Given the description of an element on the screen output the (x, y) to click on. 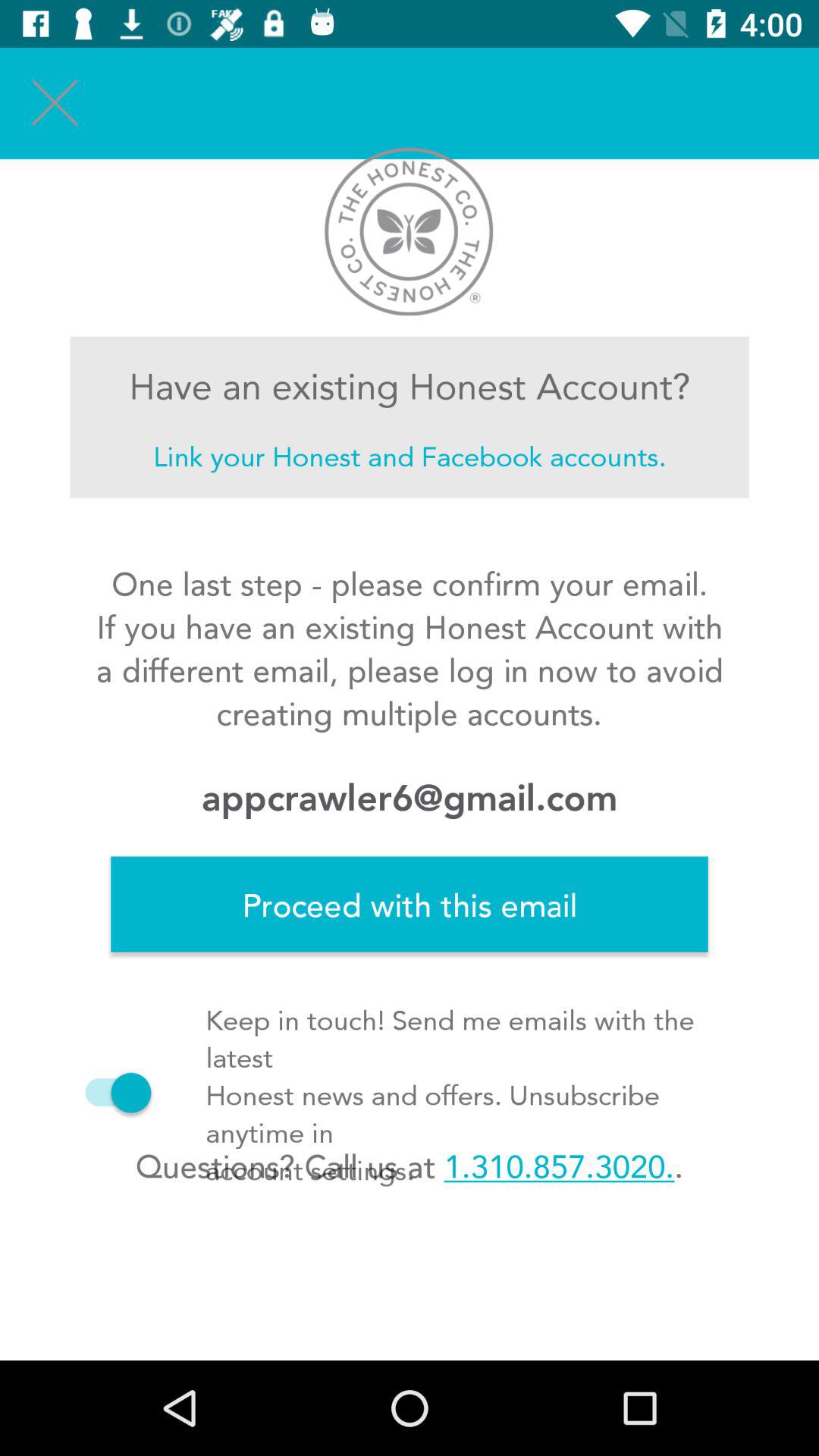
scroll to questions call us icon (409, 1165)
